Given the description of an element on the screen output the (x, y) to click on. 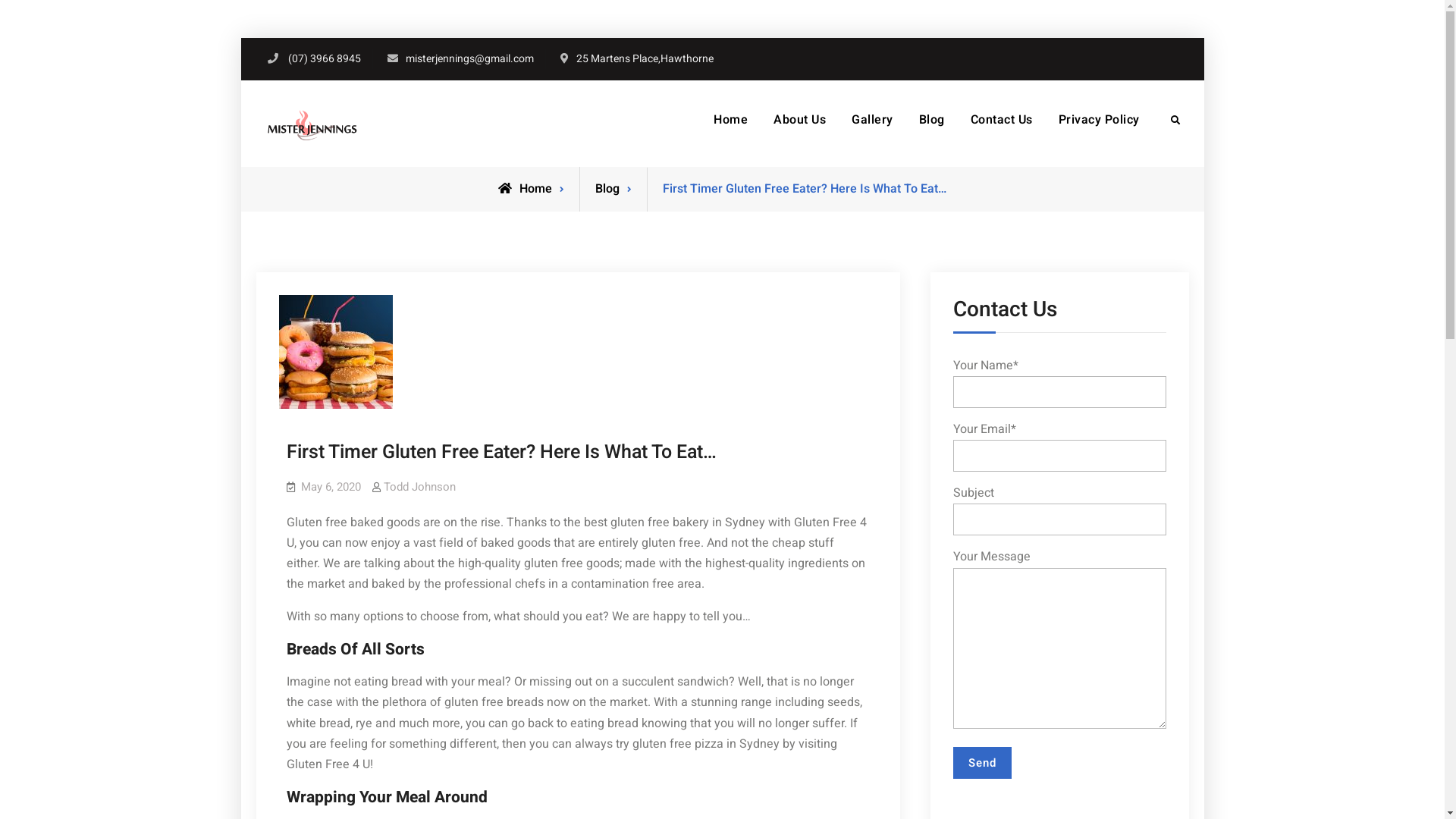
Send Element type: text (981, 762)
Skip to content Element type: text (239, 37)
May 6, 2020 Element type: text (330, 486)
(07) 3966 8945 Element type: text (324, 59)
Blog Element type: text (930, 119)
Home Element type: text (525, 188)
Privacy Policy Element type: text (1098, 119)
Todd Johnson Element type: text (419, 486)
Blog Element type: text (607, 188)
misterjennings@gmail.com Element type: text (468, 59)
Search Element type: text (1174, 119)
Mister Jennings Element type: text (445, 124)
Contact Us Element type: text (1000, 119)
Home Element type: text (730, 119)
About Us Element type: text (799, 119)
Gallery Element type: text (872, 119)
